Given the description of an element on the screen output the (x, y) to click on. 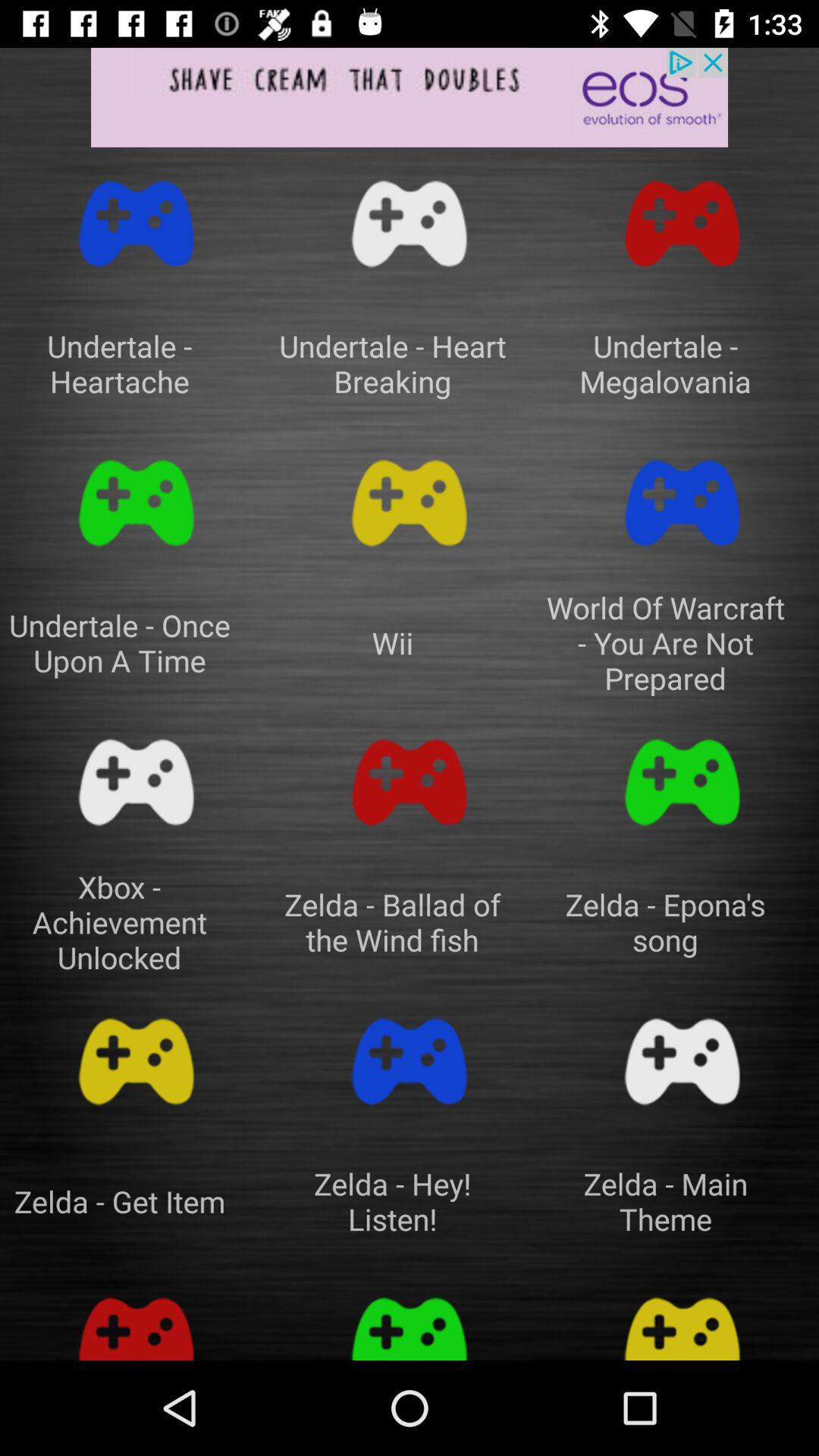
select undertale heart breaking (409, 223)
